Given the description of an element on the screen output the (x, y) to click on. 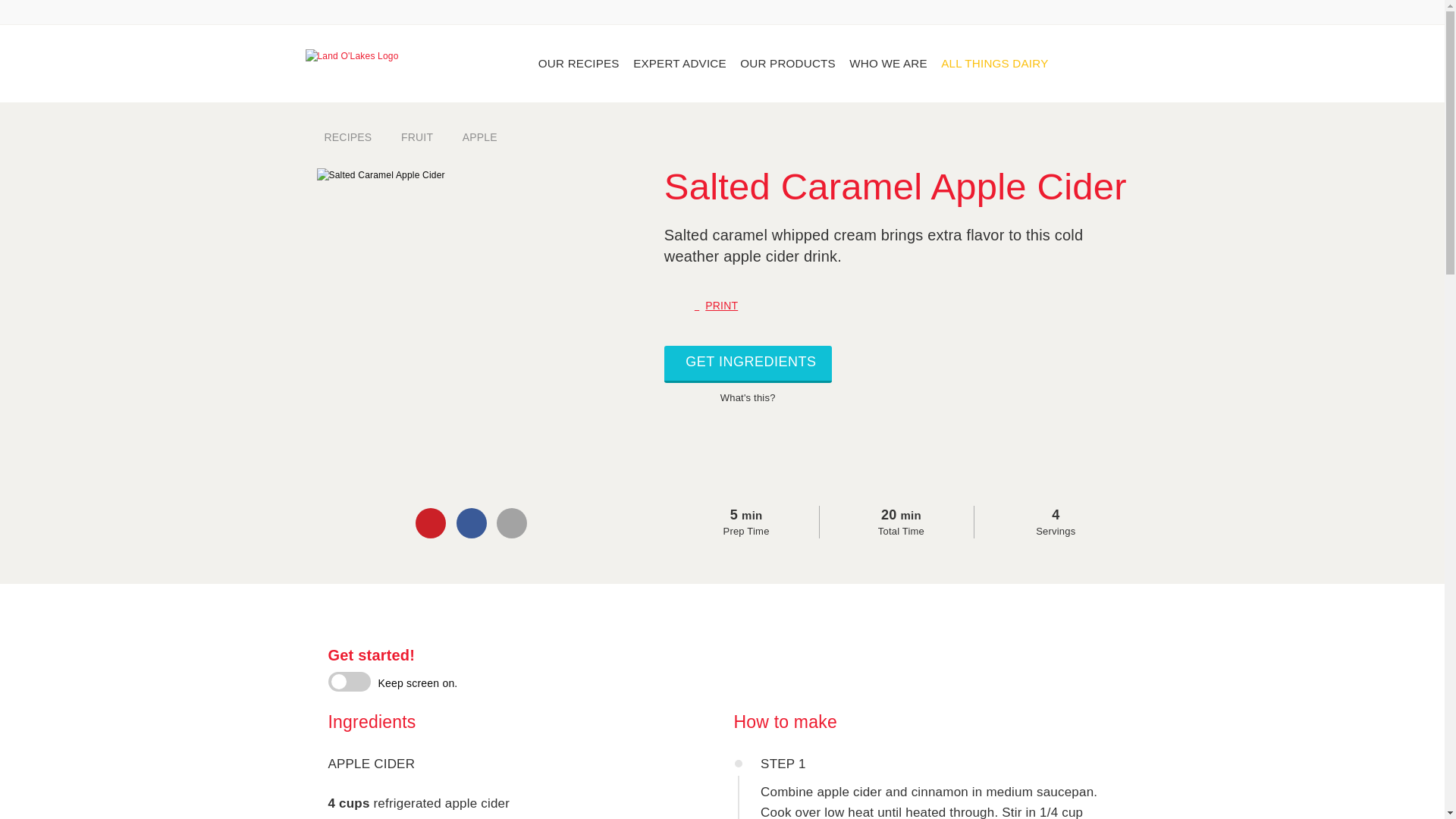
OUR RECIPES (575, 63)
WHO WE ARE (885, 63)
Search Land O'Lakes (1118, 62)
OUR PRODUCTS (785, 63)
SEARCH (1118, 62)
EXPERT ADVICE (676, 63)
ALL THINGS DAIRY (994, 63)
Land O'Lakes Logo (361, 61)
